Given the description of an element on the screen output the (x, y) to click on. 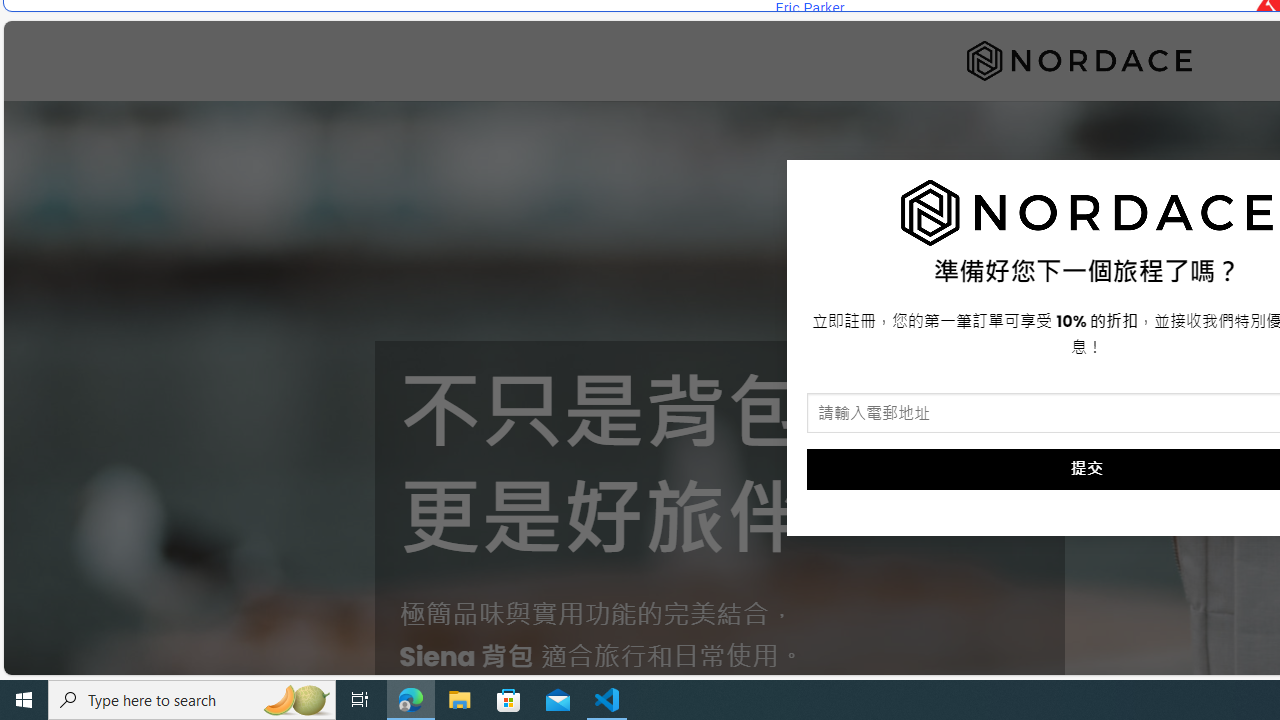
Nordace (1079, 60)
Eric Parker (809, 8)
To get missing image descriptions, open the context menu. (1087, 213)
